Given the description of an element on the screen output the (x, y) to click on. 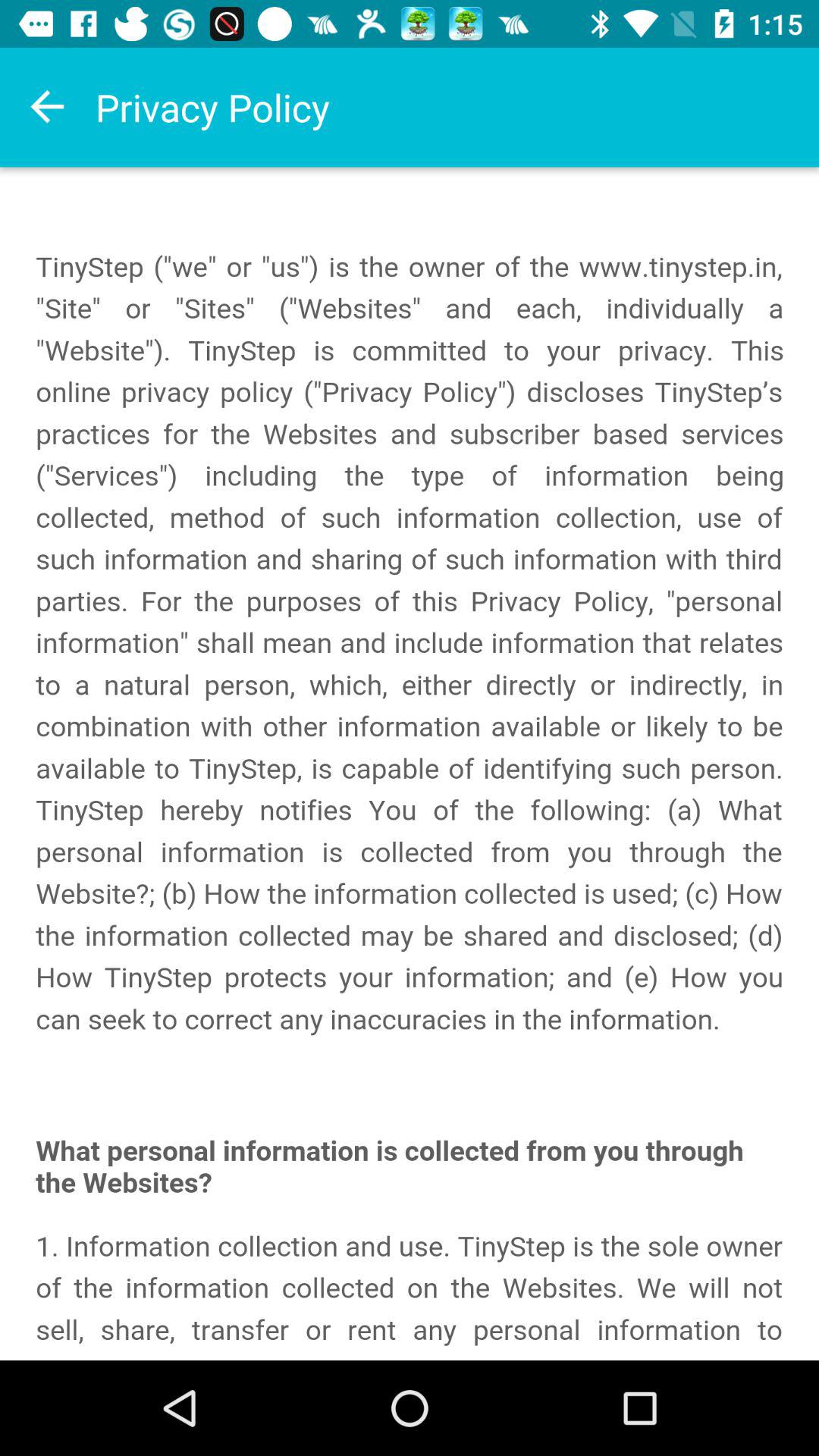
return to previous page (47, 107)
